Given the description of an element on the screen output the (x, y) to click on. 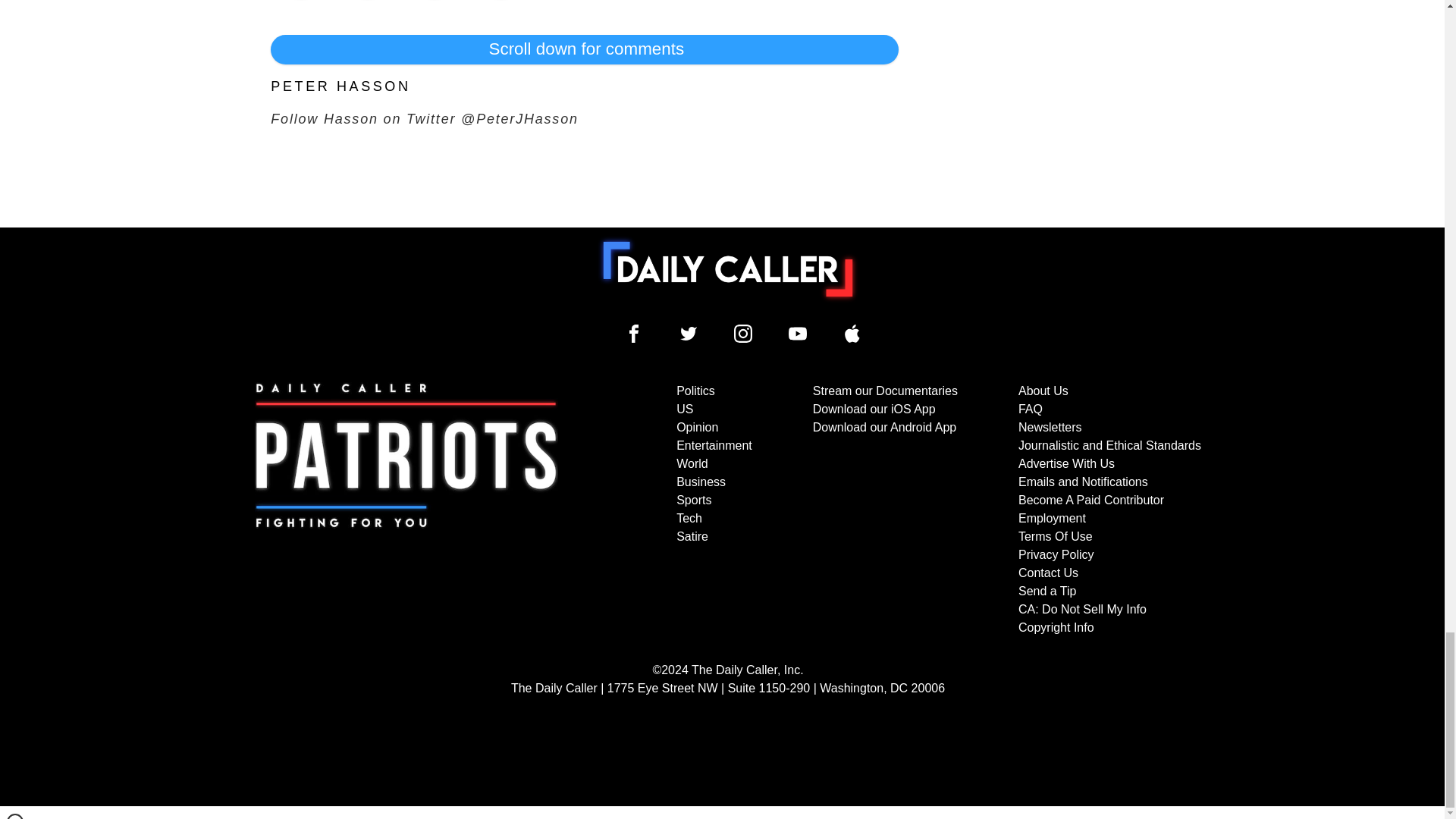
To home page (727, 268)
Daily Caller YouTube (797, 333)
Daily Caller Twitter (688, 333)
Subscribe to The Daily Caller (405, 509)
Daily Caller Facebook (633, 333)
Scroll down for comments (584, 49)
Daily Caller Instagram (742, 333)
Daily Caller YouTube (852, 333)
